Given the description of an element on the screen output the (x, y) to click on. 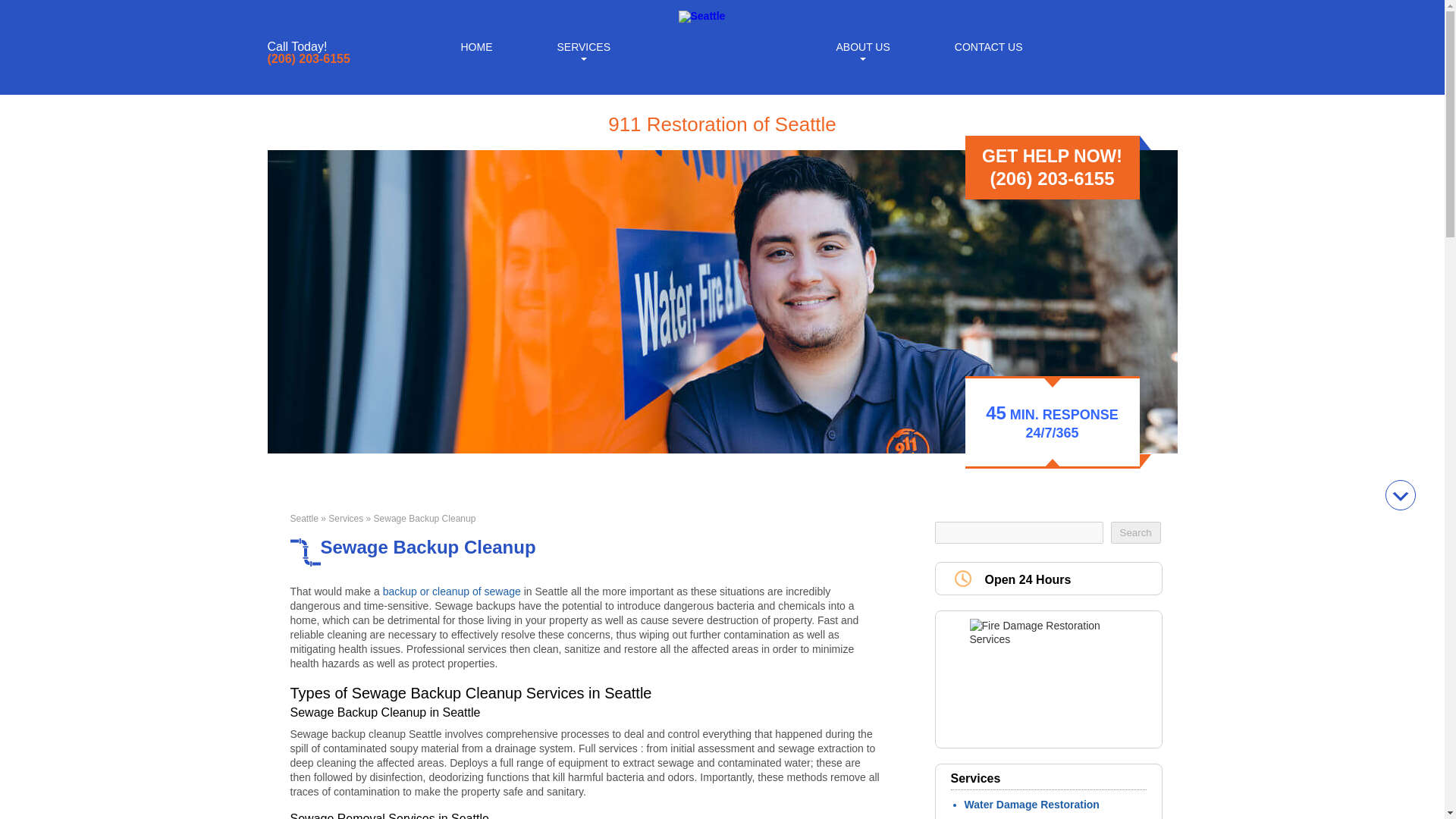
911 Water Damage Restoration Logo (701, 15)
Search (1134, 532)
SERVICES (582, 46)
ABOUT US (862, 46)
CONTACT US (988, 46)
Scroll to Down (1400, 494)
HOME (476, 46)
Go to Seattle. (303, 518)
Go to Services. (345, 518)
